Given the description of an element on the screen output the (x, y) to click on. 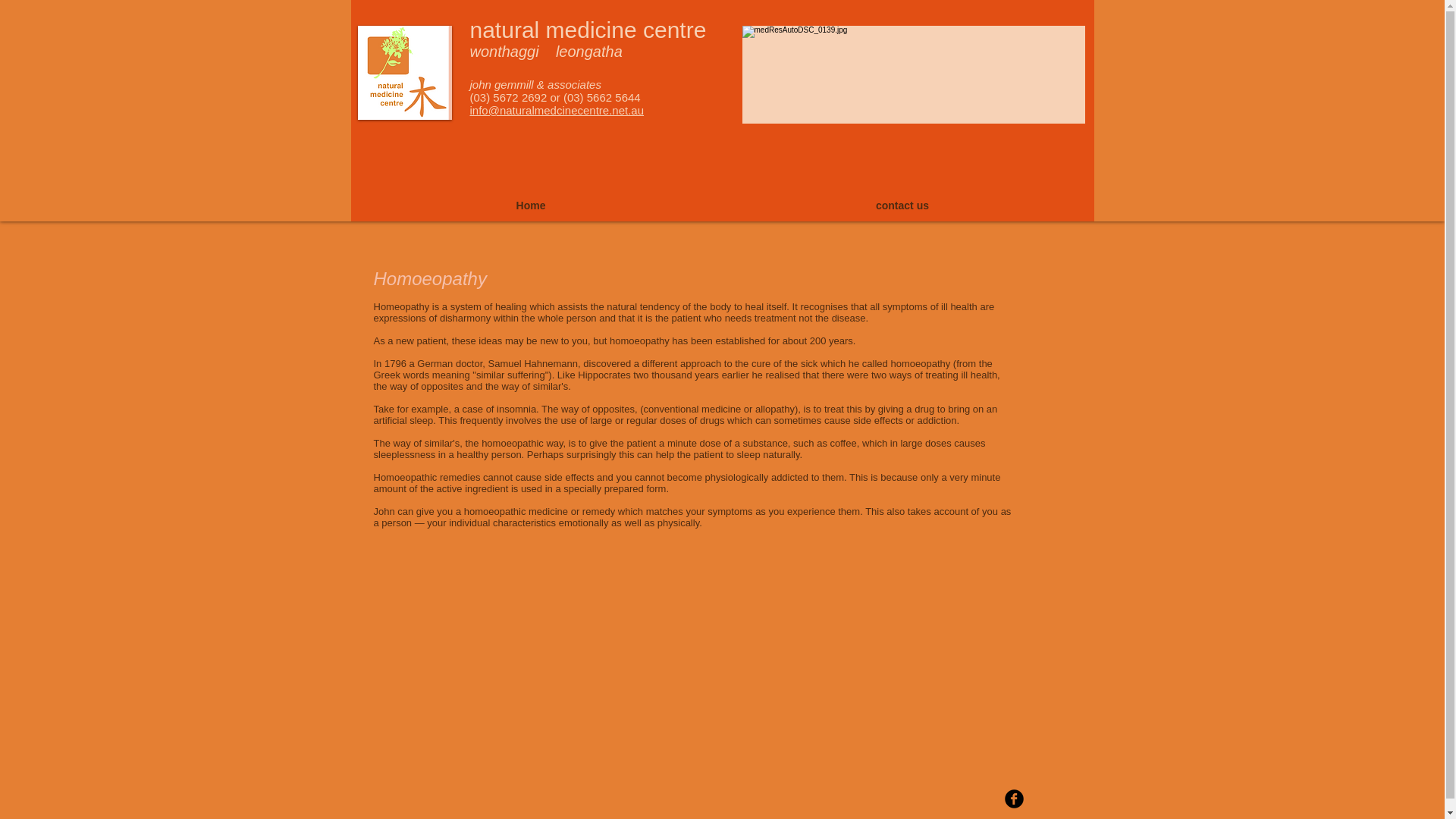
natural medicine centre (588, 29)
Home (530, 205)
allorange.png (404, 72)
contact us (902, 205)
